Given the description of an element on the screen output the (x, y) to click on. 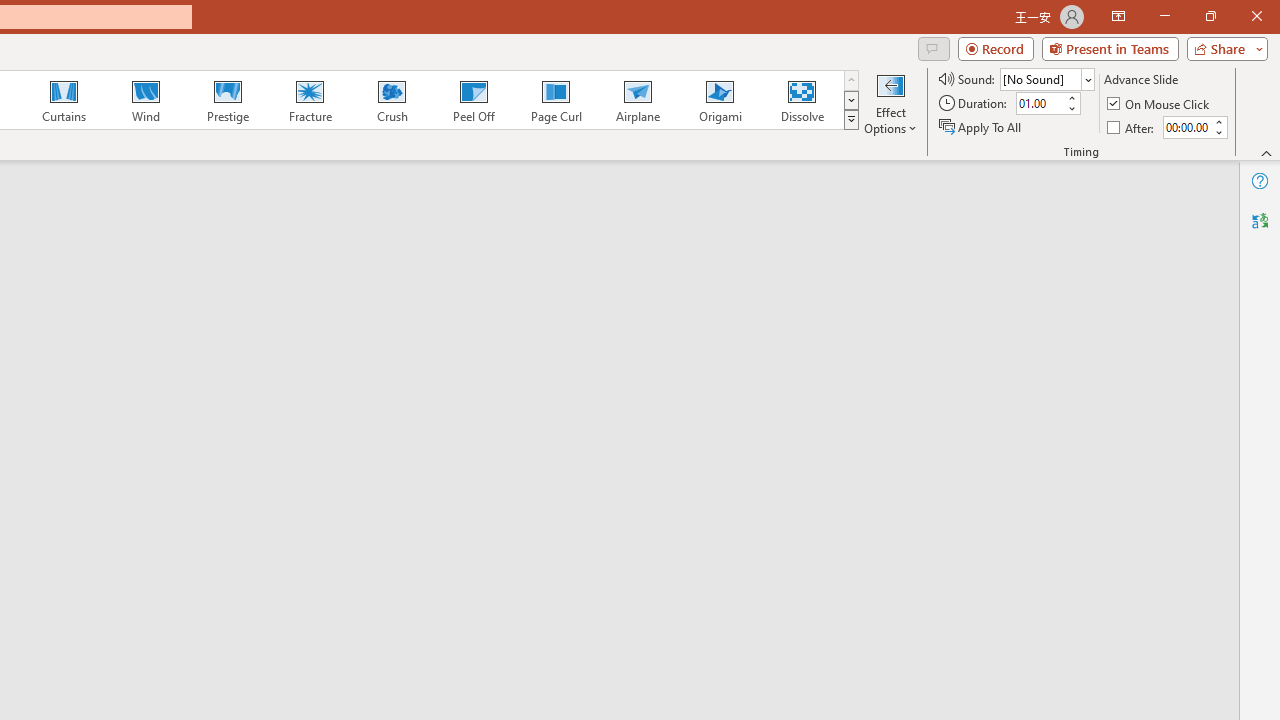
After (1131, 126)
Duration (1039, 103)
Page Curl (555, 100)
Effect Options (890, 102)
Sound (1046, 78)
On Mouse Click (1159, 103)
Less (1218, 132)
Curtains (63, 100)
Row up (850, 79)
Crush (391, 100)
